Given the description of an element on the screen output the (x, y) to click on. 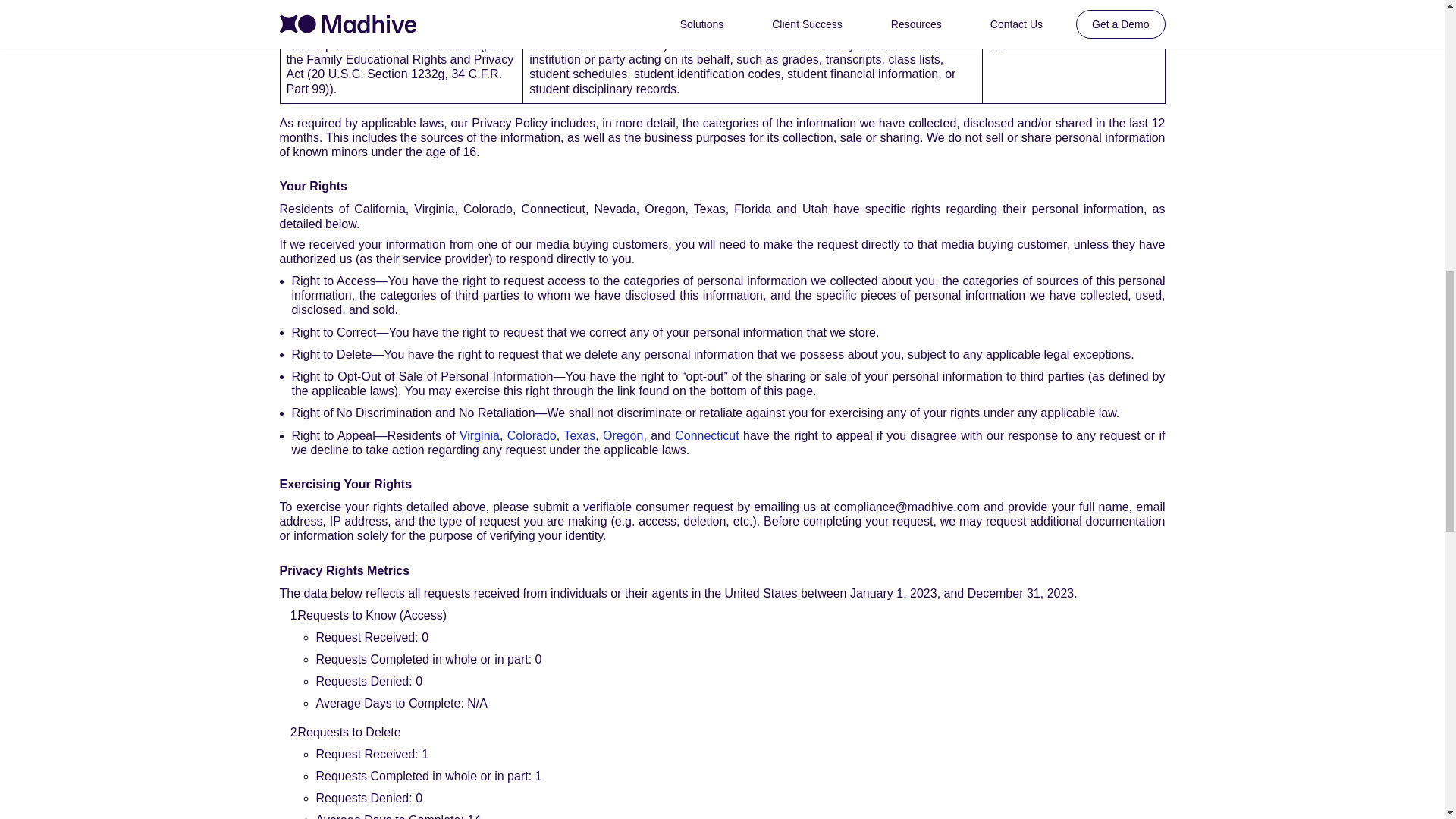
Connecticut (707, 435)
Colorado (531, 435)
Virginia (479, 435)
Texas (579, 435)
Oregon (622, 435)
